Given the description of an element on the screen output the (x, y) to click on. 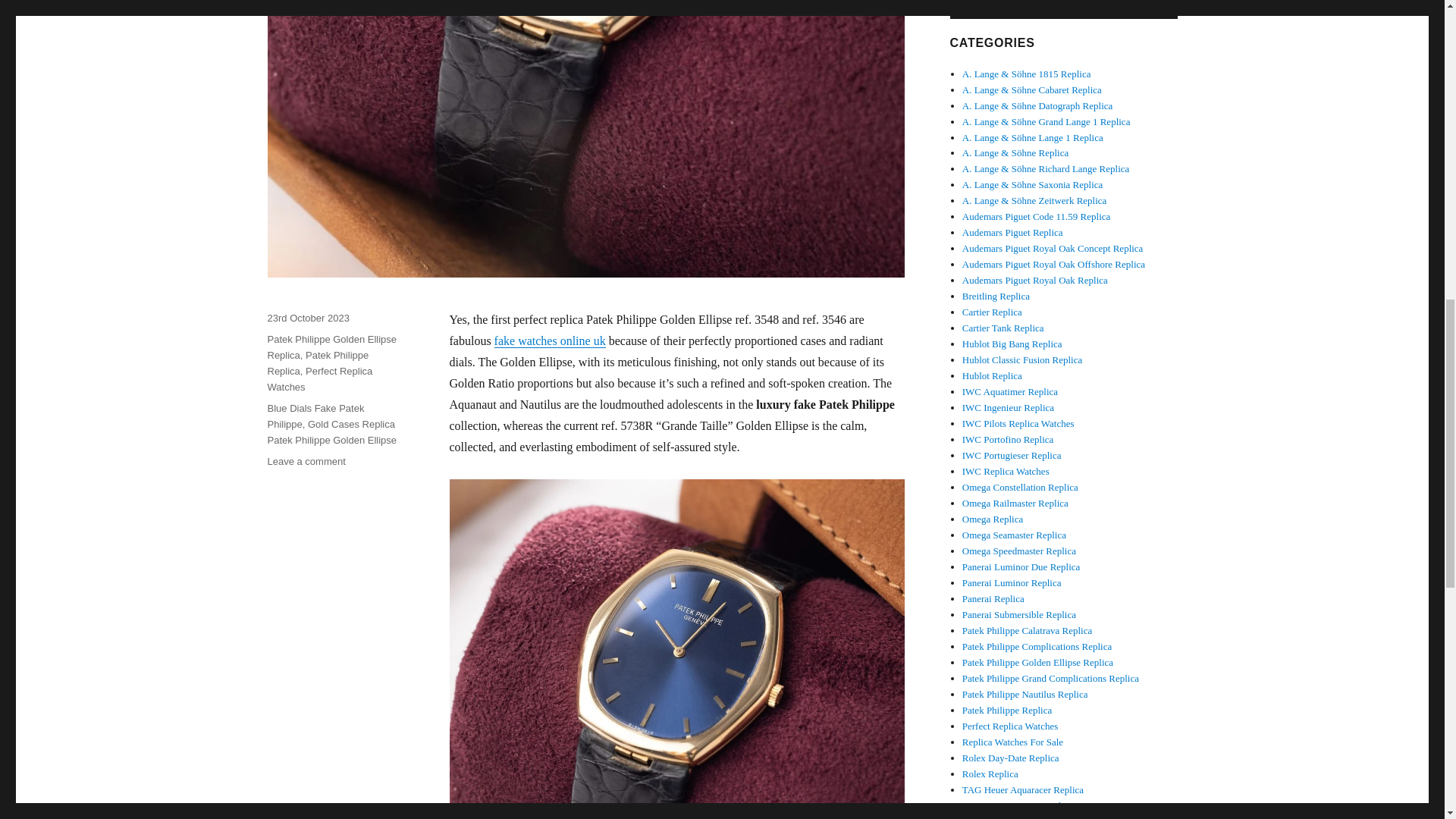
Gold Cases Replica Patek Philippe Golden Ellipse (331, 431)
Audemars Piguet Royal Oak Replica (1035, 279)
Audemars Piguet Royal Oak Offshore Replica (1053, 264)
Hublot Big Bang Replica (1012, 343)
Breitling Replica (995, 296)
Patek Philippe Replica (317, 362)
fake watches online uk (550, 340)
Audemars Piguet Code 11.59 Replica (1036, 215)
Patek Philippe Golden Ellipse Replica (331, 347)
Perfect Replica Watches (319, 379)
Cartier Replica (992, 311)
Blue Dials Fake Patek Philippe (315, 415)
Audemars Piguet Replica (1012, 232)
Audemars Piguet Royal Oak Concept Replica (1052, 247)
